Given the description of an element on the screen output the (x, y) to click on. 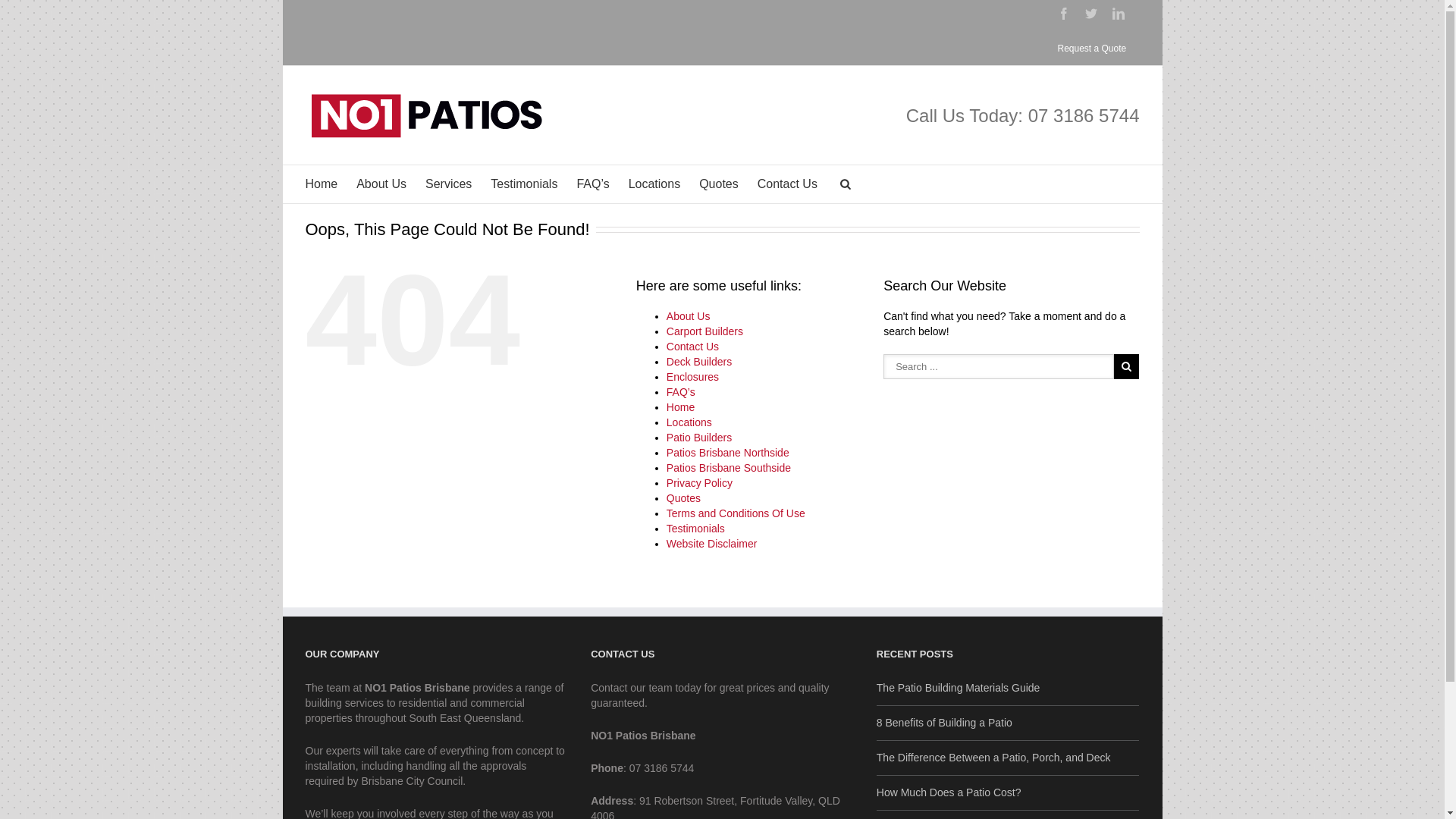
Patio Builders Element type: text (698, 437)
About Us Element type: text (381, 184)
Home Element type: text (320, 184)
The Patio Building Materials Guide Element type: text (1007, 688)
Privacy Policy Element type: text (699, 482)
How Much Does a Patio Cost? Element type: text (1007, 787)
Carport Builders Element type: text (704, 331)
Patios Brisbane Southside Element type: text (728, 467)
The Difference Between a Patio, Porch, and Deck Element type: text (1007, 752)
Locations Element type: text (689, 422)
About Us Element type: text (688, 316)
Contact Us Element type: text (692, 346)
Twitter Element type: hover (1090, 13)
Patios Brisbane Northside Element type: text (727, 452)
Deck Builders Element type: text (698, 361)
Terms and Conditions Of Use Element type: text (735, 513)
Testimonials Element type: text (695, 528)
Enclosures Element type: text (692, 376)
8 Benefits of Building a Patio Element type: text (1007, 718)
Website Disclaimer Element type: text (711, 543)
Contact Us Element type: text (787, 184)
Testimonials Element type: text (523, 184)
Quotes Element type: text (683, 498)
Linkedin Element type: hover (1117, 13)
Quotes Element type: text (718, 184)
Request a Quote Element type: text (1091, 48)
Services Element type: text (448, 184)
Facebook Element type: hover (1063, 13)
Locations Element type: text (654, 184)
Home Element type: text (680, 407)
